Given the description of an element on the screen output the (x, y) to click on. 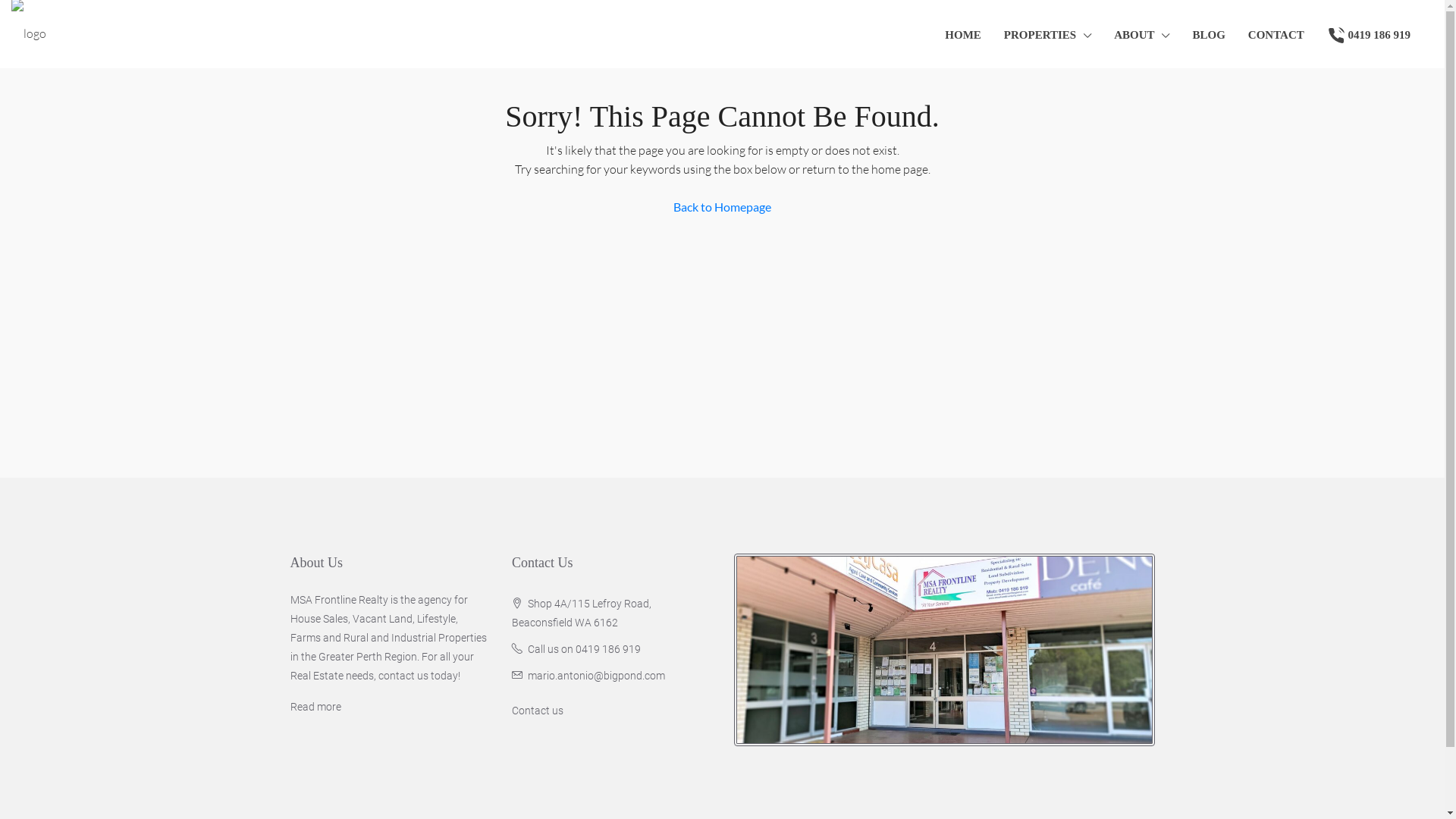
HOME Element type: text (962, 34)
Back to Homepage Element type: text (722, 206)
mario.antonio@bigpond.com Element type: text (596, 675)
ABOUT Element type: text (1141, 34)
PROPERTIES Element type: text (1047, 34)
CONTACT Element type: text (1275, 34)
Read more Element type: text (314, 706)
Contact us Element type: text (537, 710)
Call us on 0419 186 919 Element type: text (583, 649)
0419 186 919 Element type: text (1368, 34)
BLOG Element type: text (1208, 34)
